Given the description of an element on the screen output the (x, y) to click on. 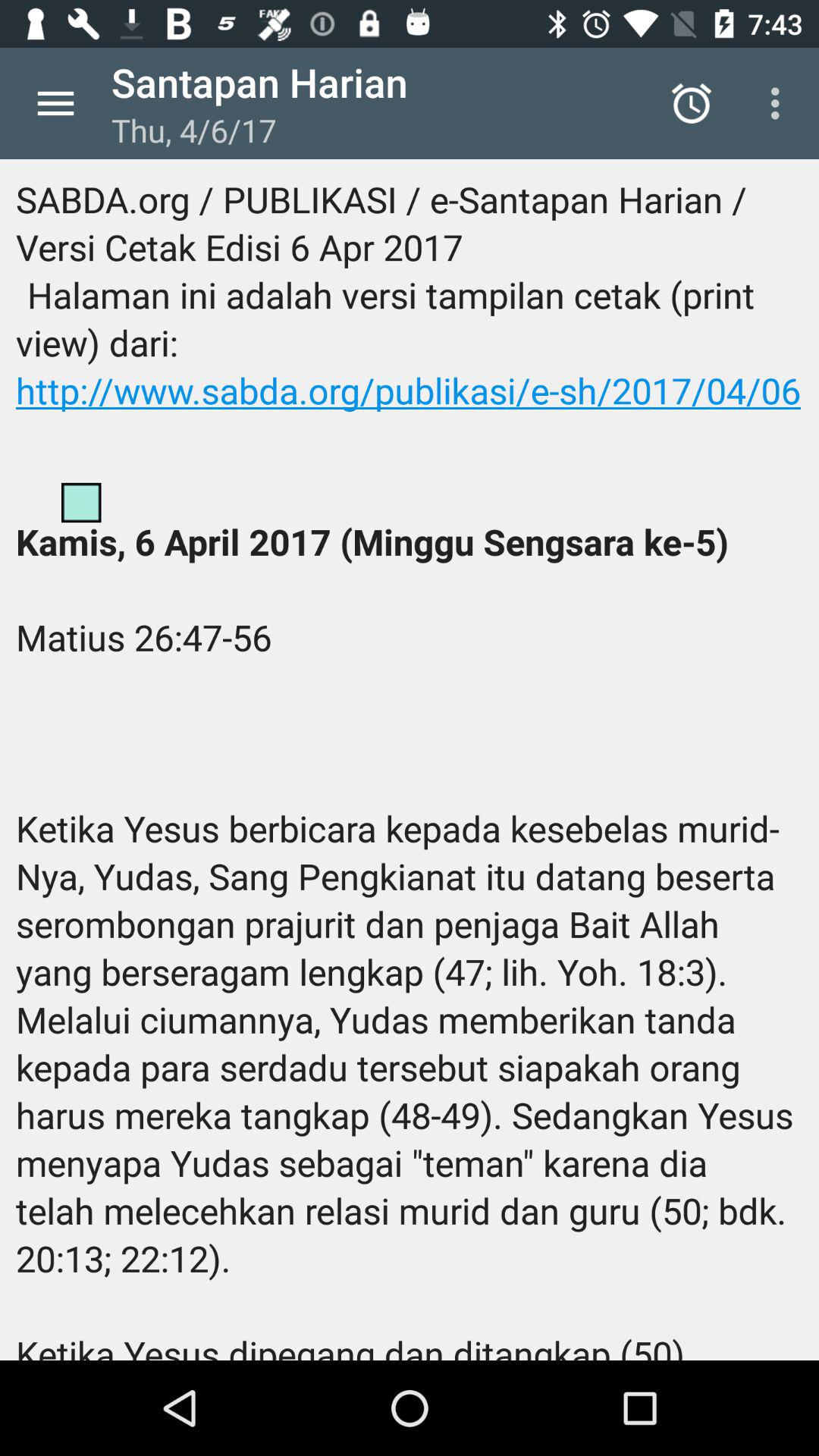
launch the item above the sabda org publikasi icon (691, 103)
